Given the description of an element on the screen output the (x, y) to click on. 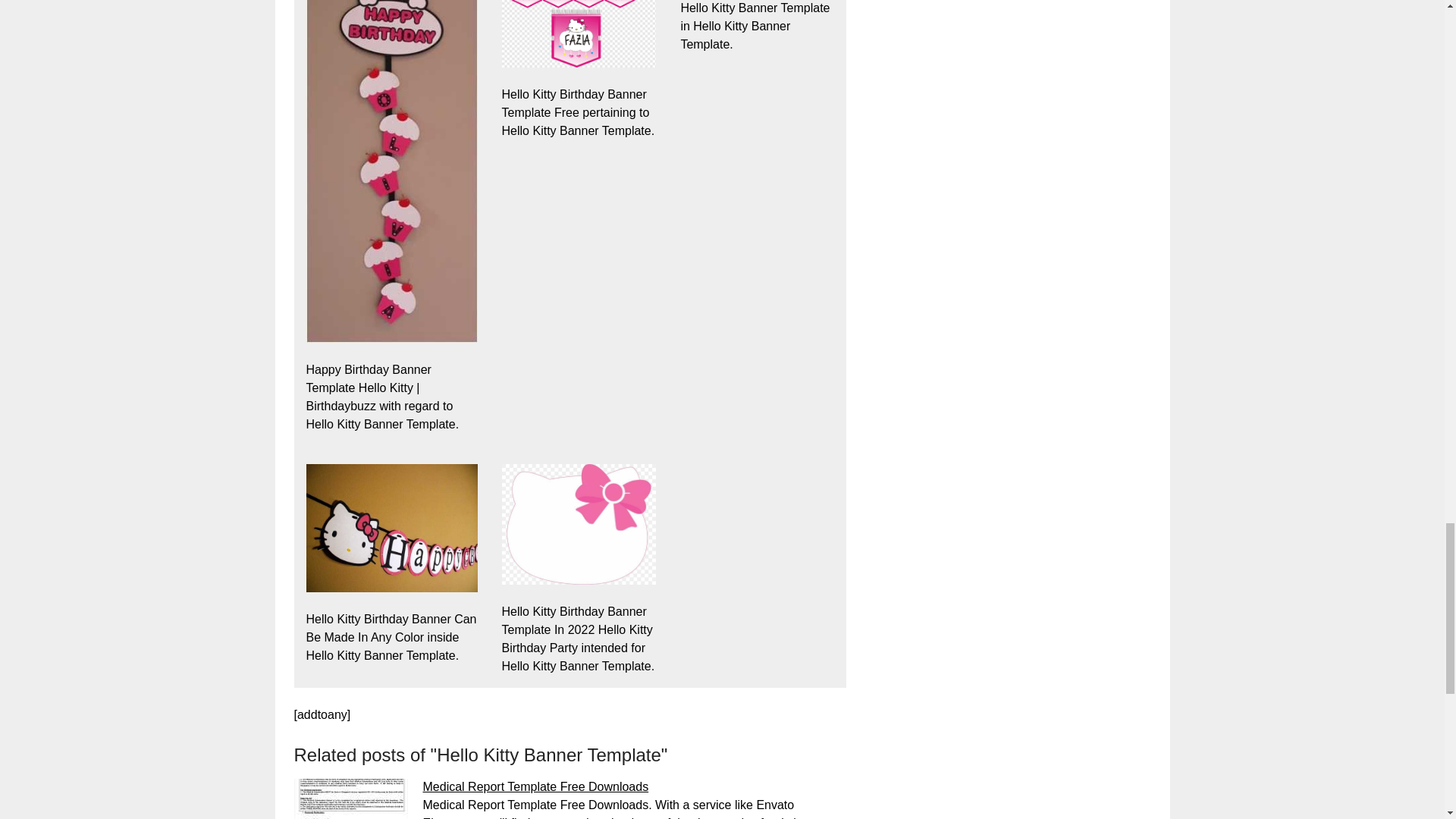
Medical Report Template Free Downloads (536, 786)
